Given the description of an element on the screen output the (x, y) to click on. 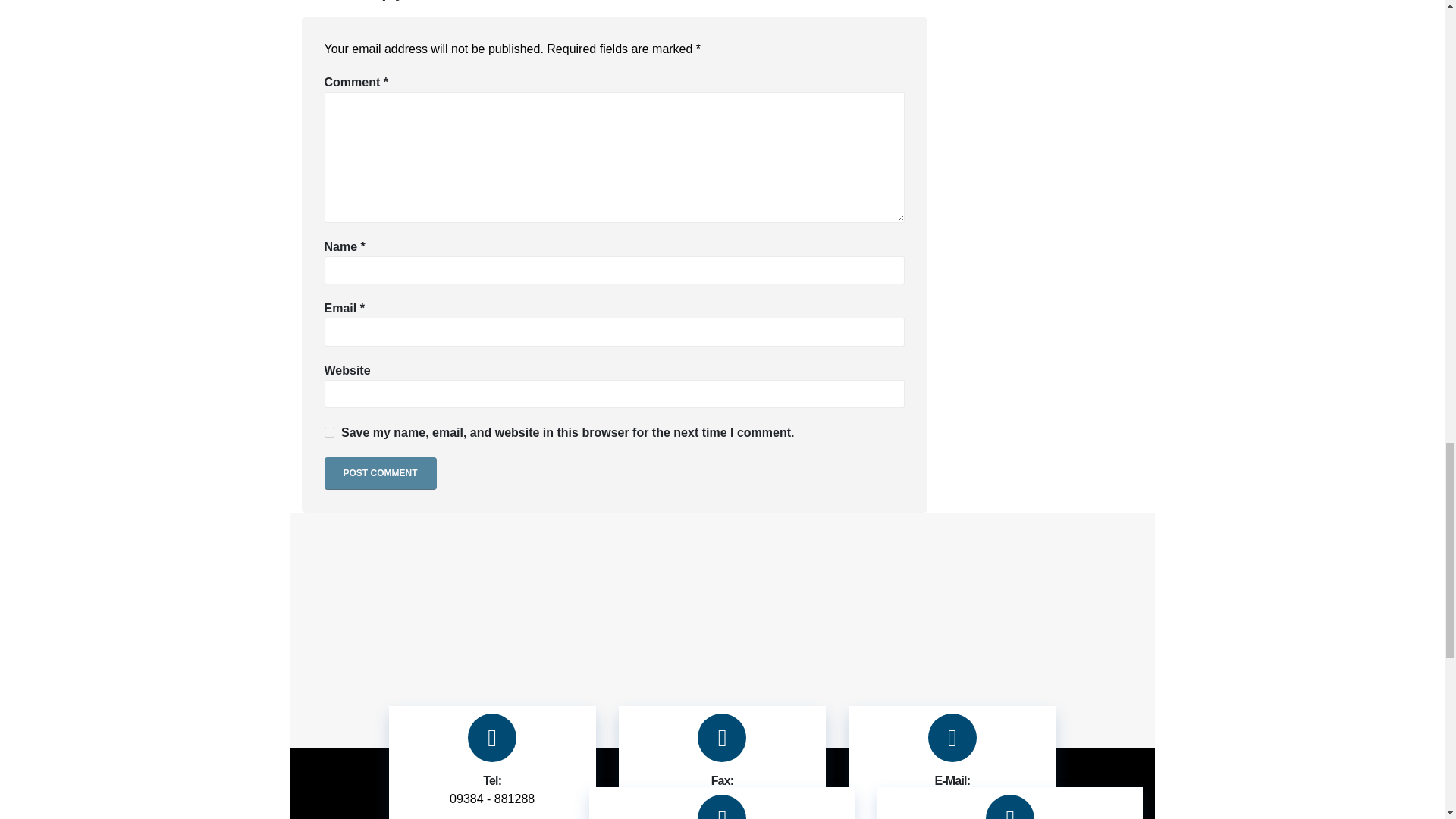
yes (329, 432)
Post Comment (380, 473)
